Given the description of an element on the screen output the (x, y) to click on. 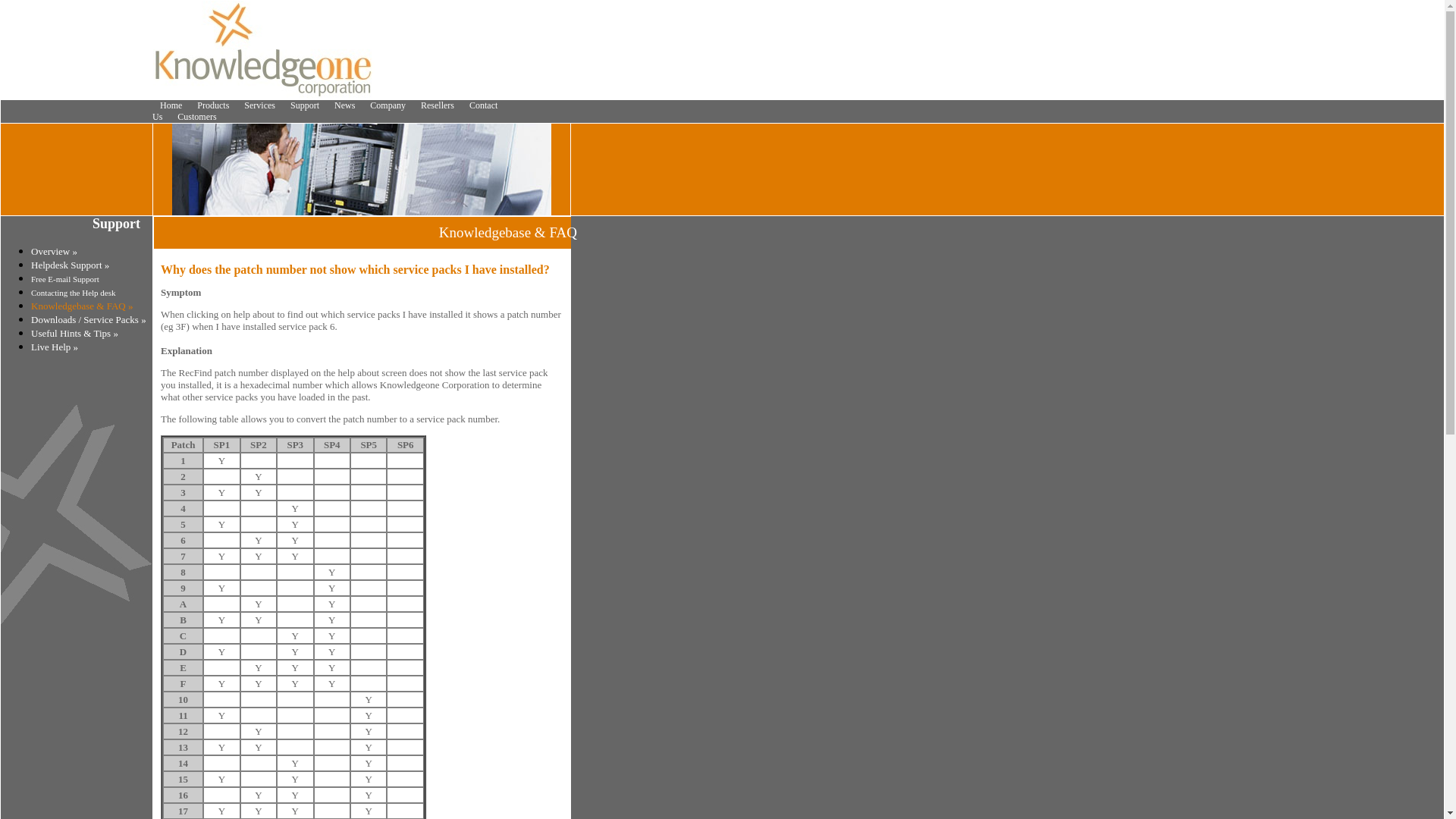
Contact Us (324, 111)
Overview (49, 251)
Home (170, 105)
News (344, 105)
Free E-mail Support (64, 278)
Services (258, 105)
Live Help (49, 346)
Contacting the Help desk (73, 292)
Customers (197, 116)
Products (212, 105)
